Given the description of an element on the screen output the (x, y) to click on. 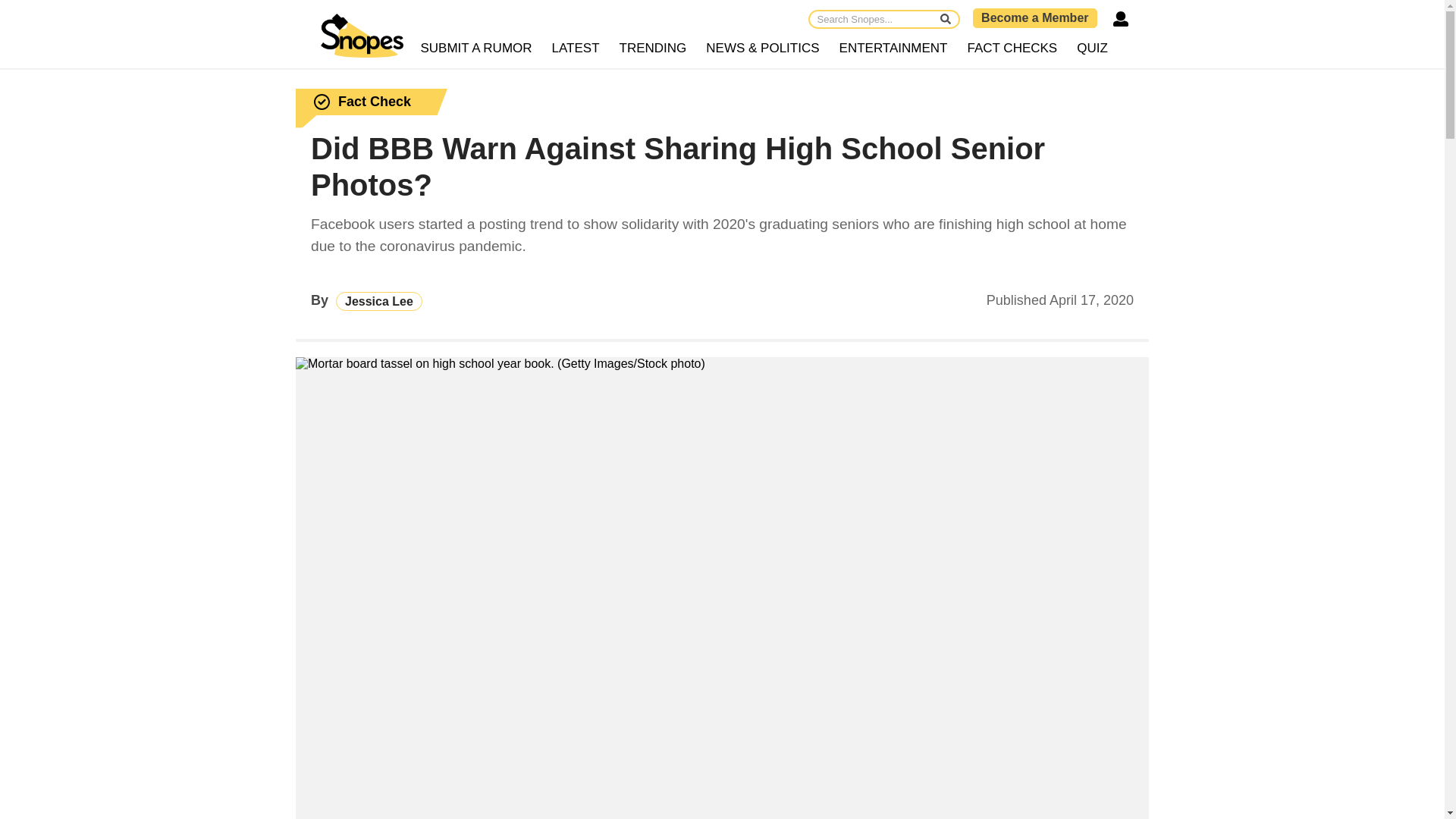
Jessica Lee (379, 301)
LATEST (576, 47)
ENTERTAINMENT (893, 47)
FACT CHECKS (1011, 47)
SUBMIT A RUMOR (475, 47)
QUIZ (1092, 47)
Become a Member (1034, 17)
TRENDING (653, 47)
